Given the description of an element on the screen output the (x, y) to click on. 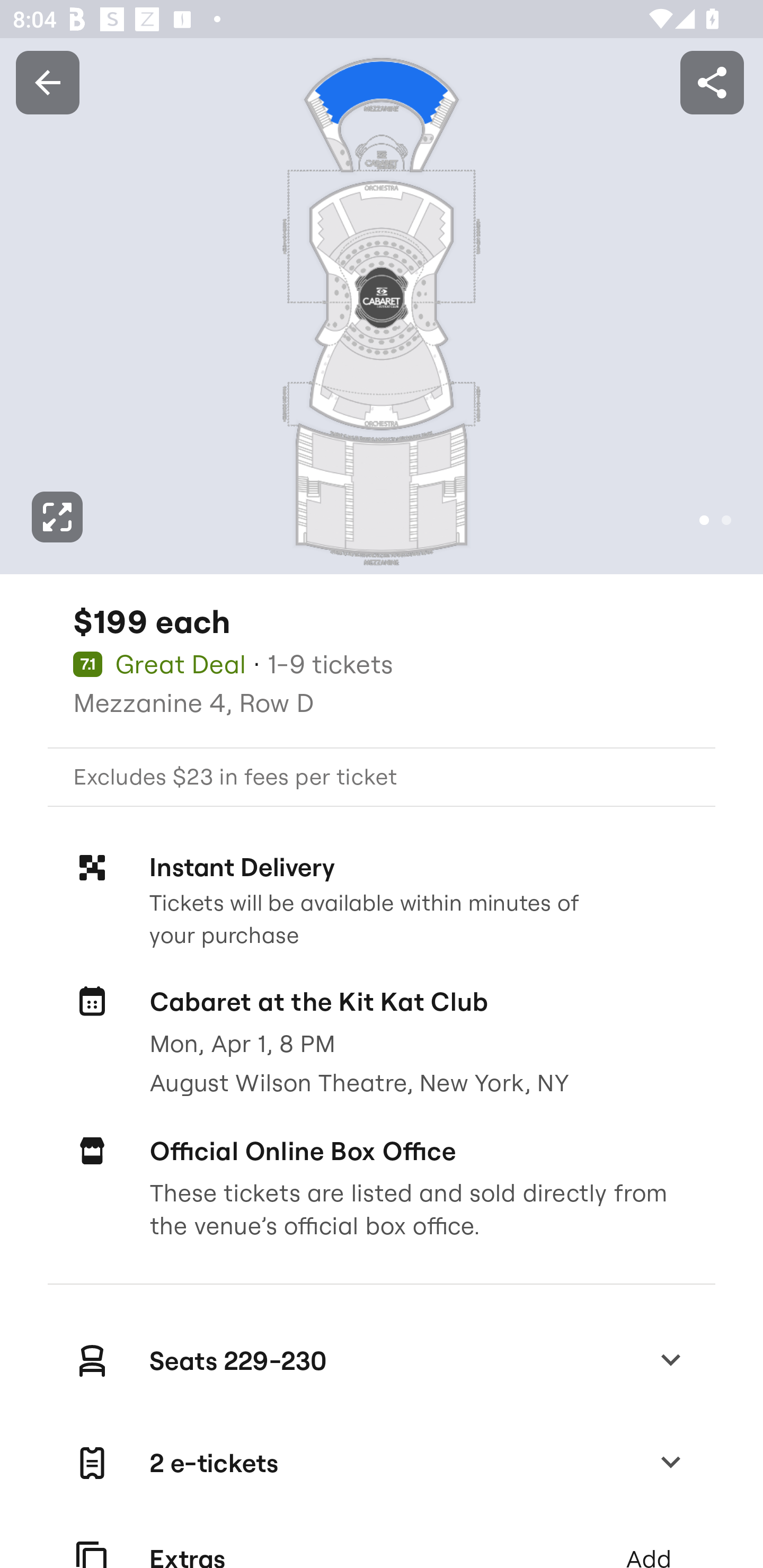
Back (47, 81)
Share (711, 81)
Expand image to fullscreen (57, 517)
Seats 229-230 Expand to show options (381, 1360)
2 e-tickets Expand to show options (381, 1463)
Extras Add (381, 1541)
Add (647, 1541)
